Given the description of an element on the screen output the (x, y) to click on. 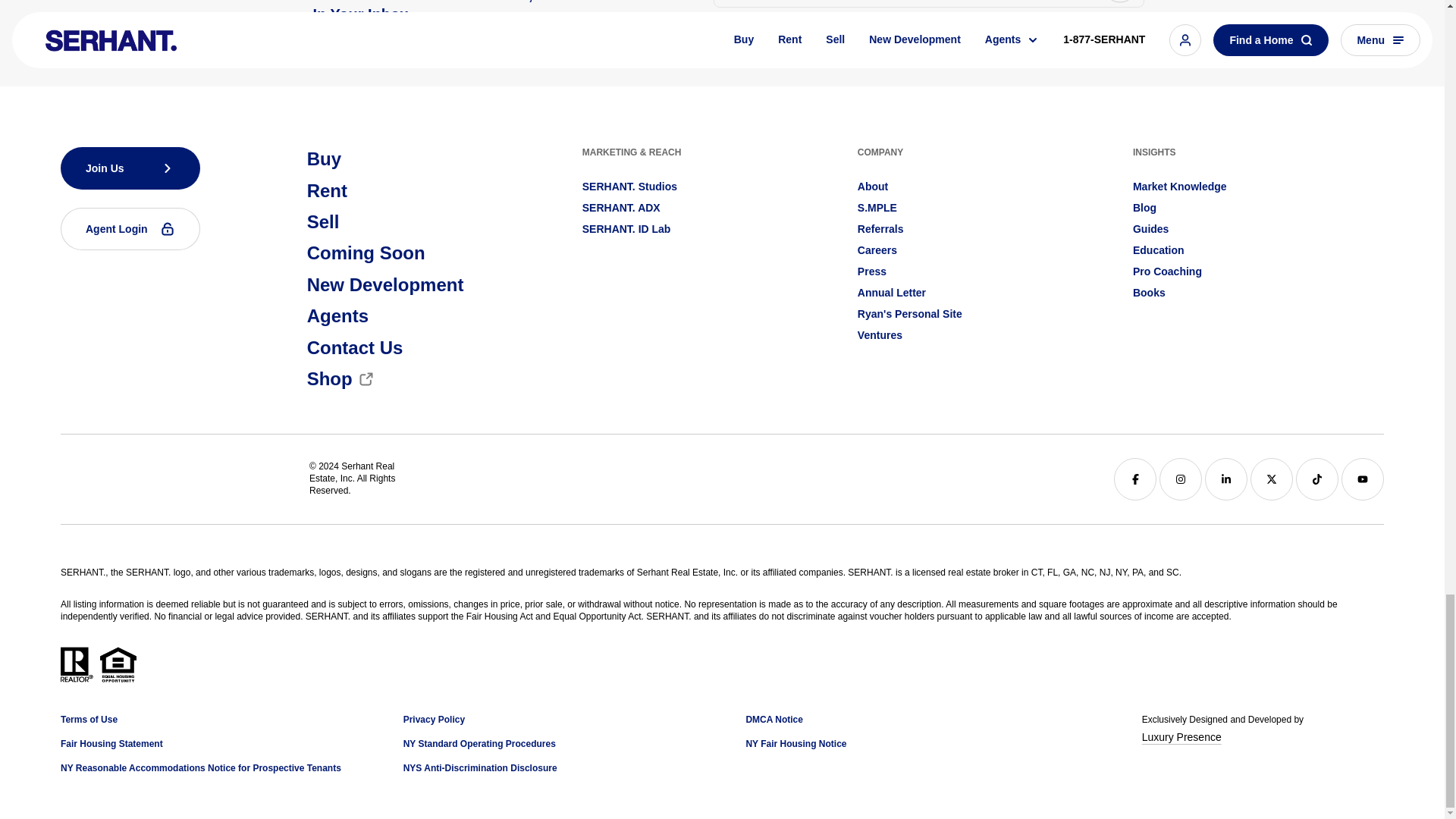
on (718, 25)
SERHANT. S.MPLE (876, 207)
Sell It Pro Coaching (1167, 271)
